Given the description of an element on the screen output the (x, y) to click on. 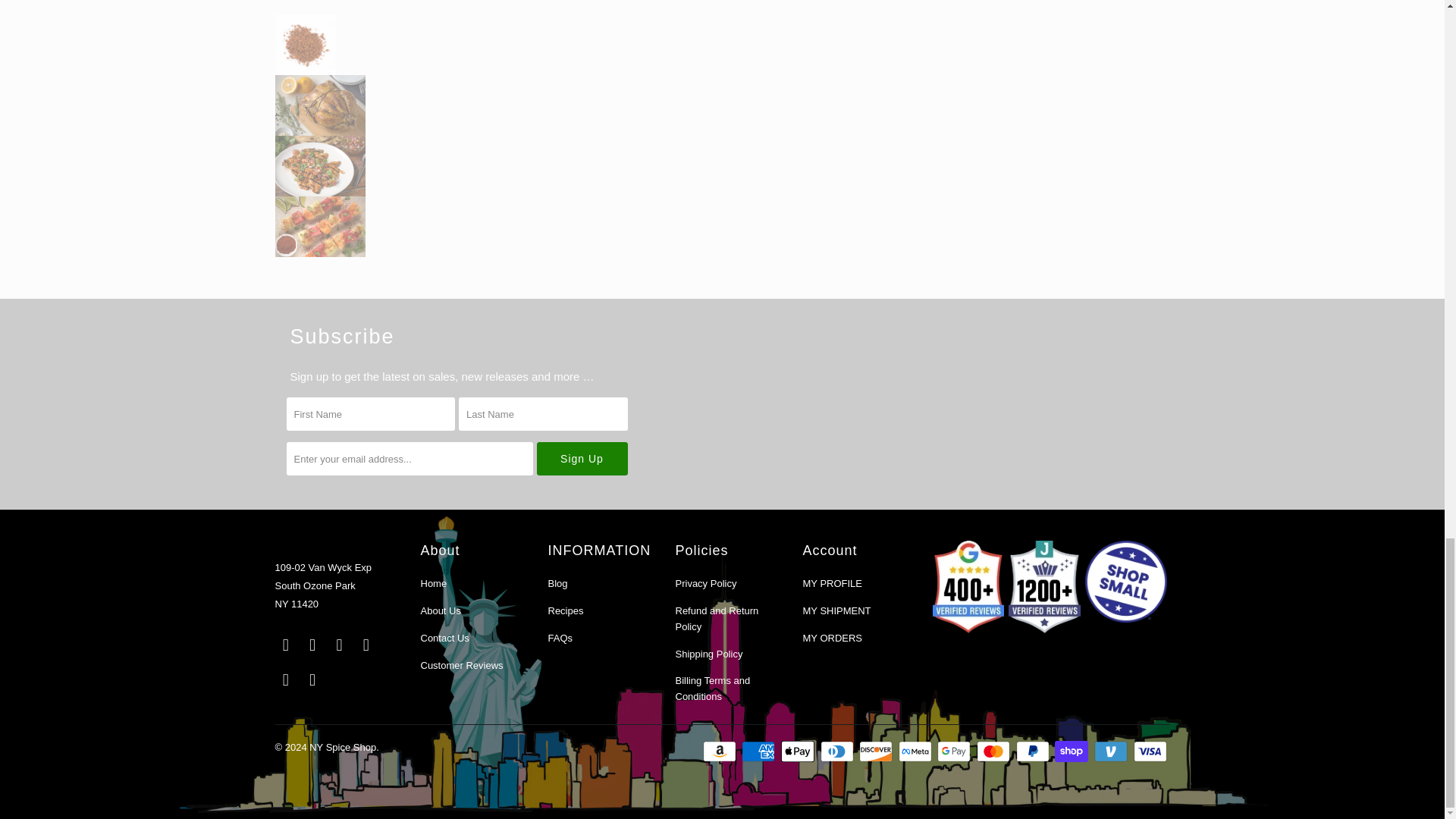
Discover (877, 751)
Visa (1150, 751)
Mastercard (994, 751)
Apple Pay (798, 751)
Shop Pay (1072, 751)
Sign Up (582, 458)
PayPal (1034, 751)
Amazon (721, 751)
American Express (759, 751)
Meta Pay (916, 751)
